Given the description of an element on the screen output the (x, y) to click on. 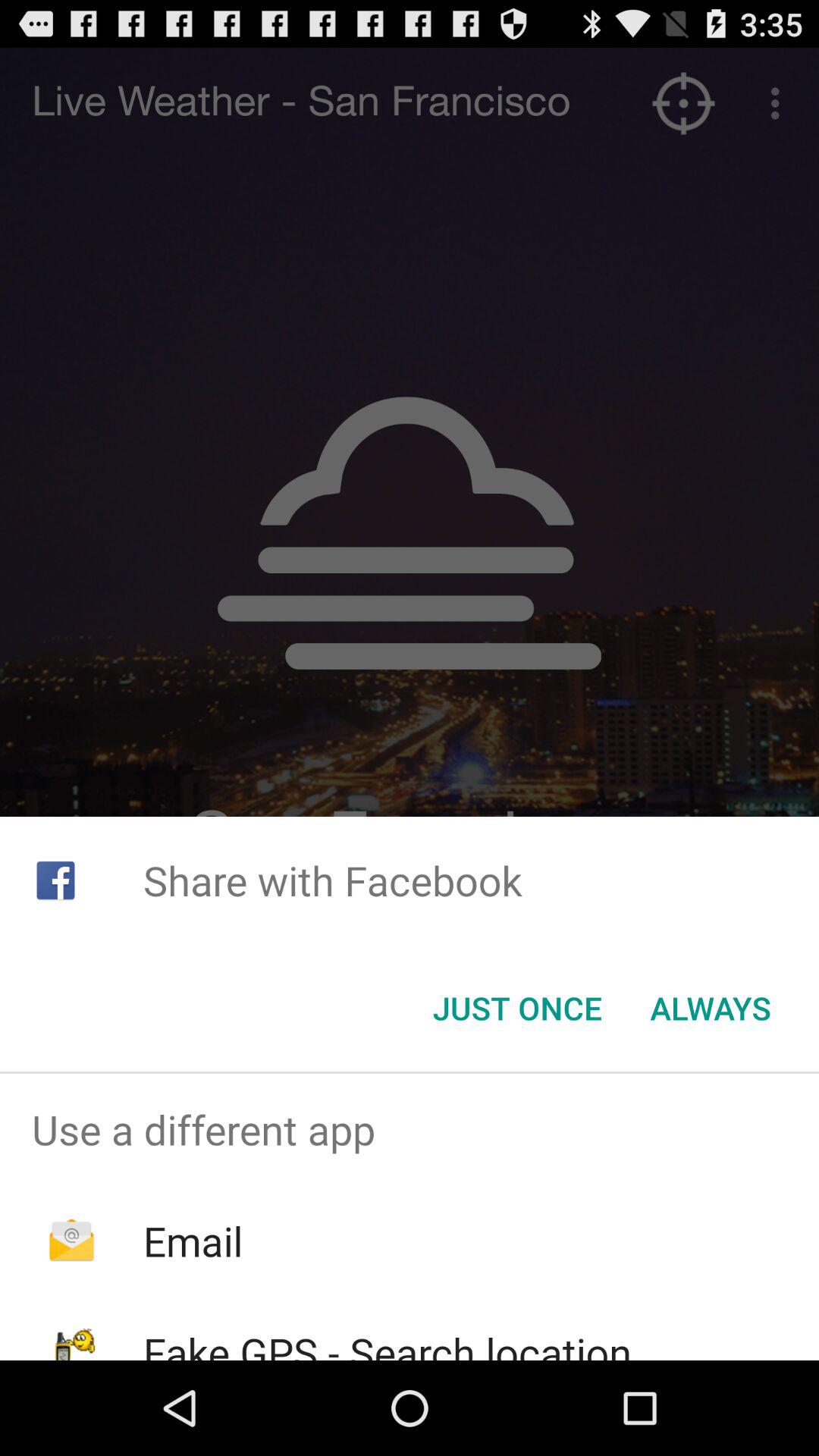
turn off always at the bottom right corner (710, 1007)
